Given the description of an element on the screen output the (x, y) to click on. 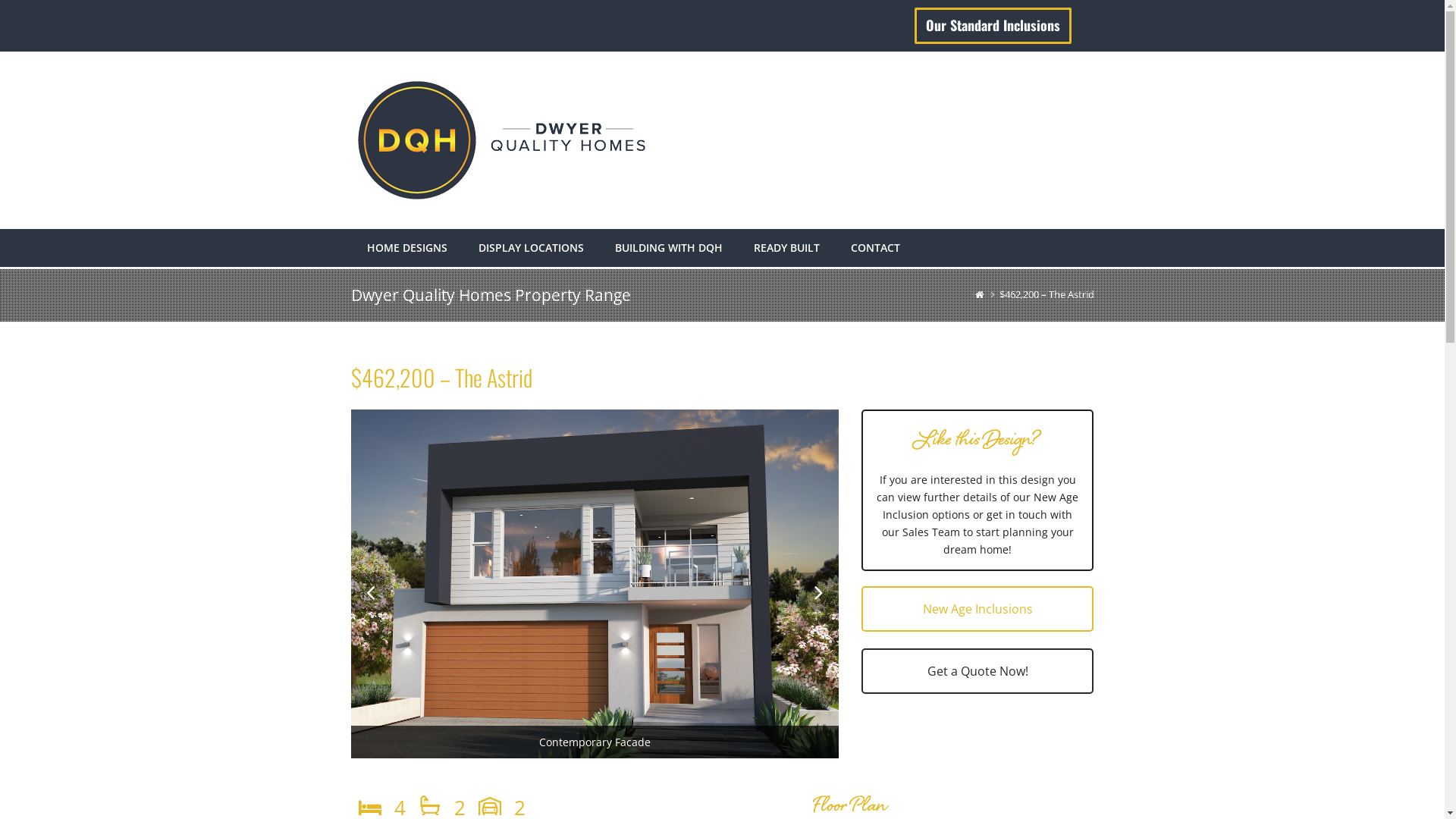
New Age Inclusions Element type: text (977, 608)
Dwyer Quality Homes Element type: hover (501, 138)
DISPLAY LOCATIONS Element type: text (530, 247)
READY BUILT Element type: text (786, 247)
BUILDING WITH DQH Element type: text (668, 247)
CONTACT Element type: text (875, 247)
Get a Quote Now! Element type: text (977, 670)
HOME DESIGNS Element type: text (406, 247)
Dwyer Quality Homes Element type: hover (978, 294)
Our Standard Inclusions Element type: text (992, 25)
